Given the description of an element on the screen output the (x, y) to click on. 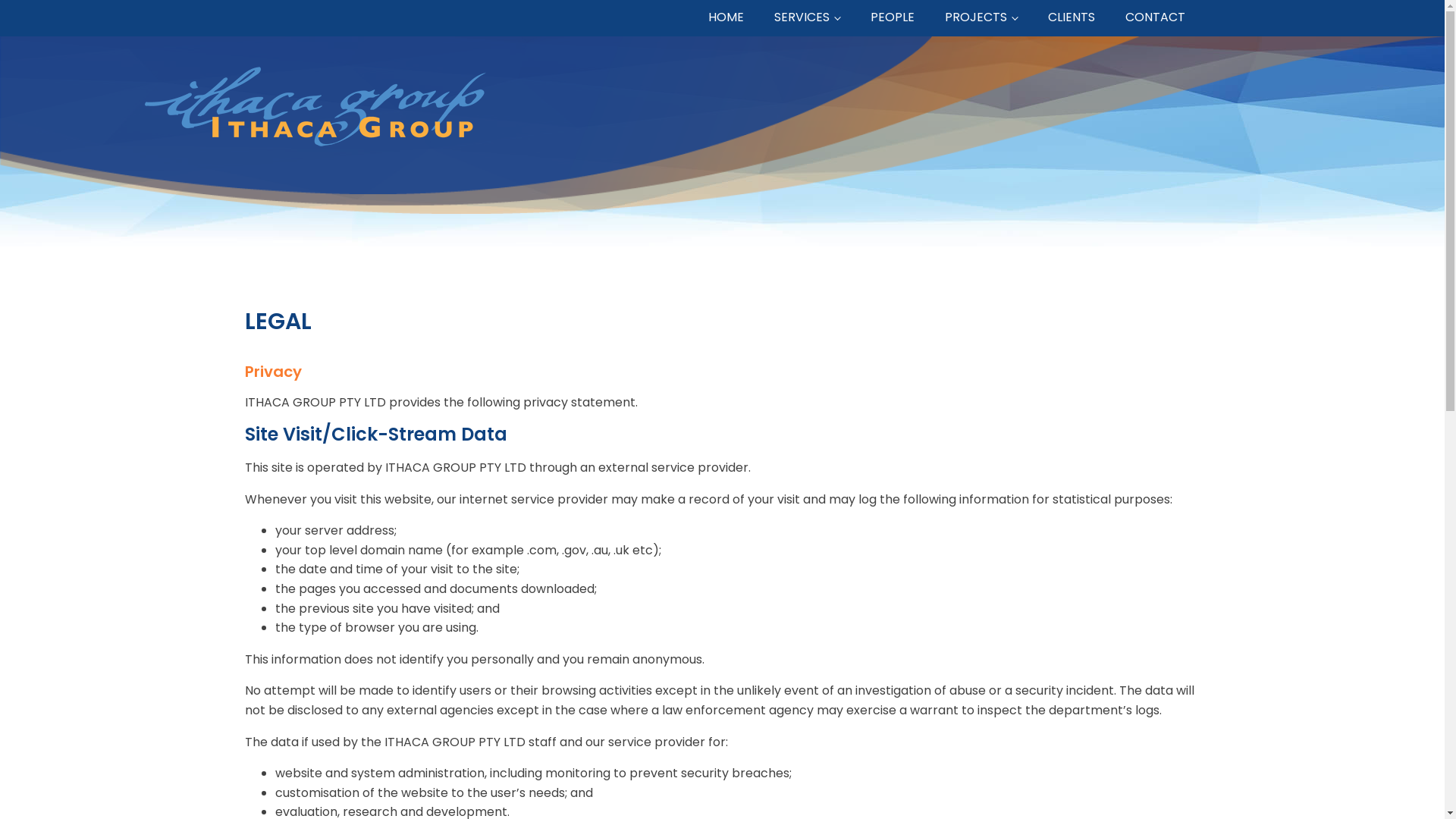
CLIENTS Element type: text (1071, 18)
PEOPLE Element type: text (892, 18)
CONTACT Element type: text (1155, 18)
SERVICES Element type: text (807, 18)
PROJECTS Element type: text (980, 18)
HOME Element type: text (726, 18)
